Given the description of an element on the screen output the (x, y) to click on. 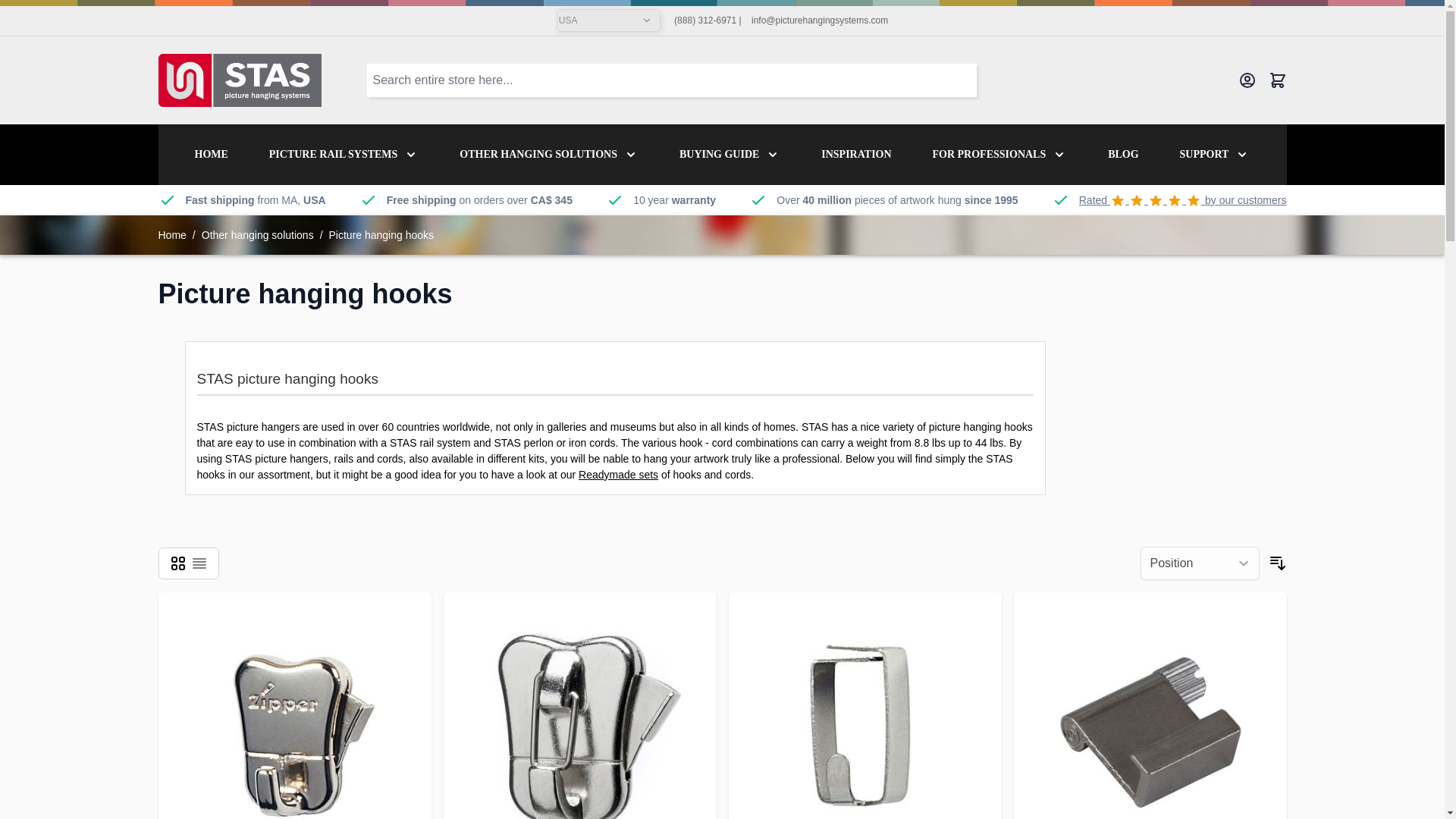
Toggle submenu for Other hanging solutions (631, 154)
OTHER HANGING SOLUTIONS (538, 153)
Toggle submenu for Picture rail systems (411, 154)
star (1174, 200)
View cart, Cart is empty (1276, 80)
Cart (1276, 80)
star (1136, 200)
star (1193, 200)
star (1155, 200)
star (1117, 200)
